Given the description of an element on the screen output the (x, y) to click on. 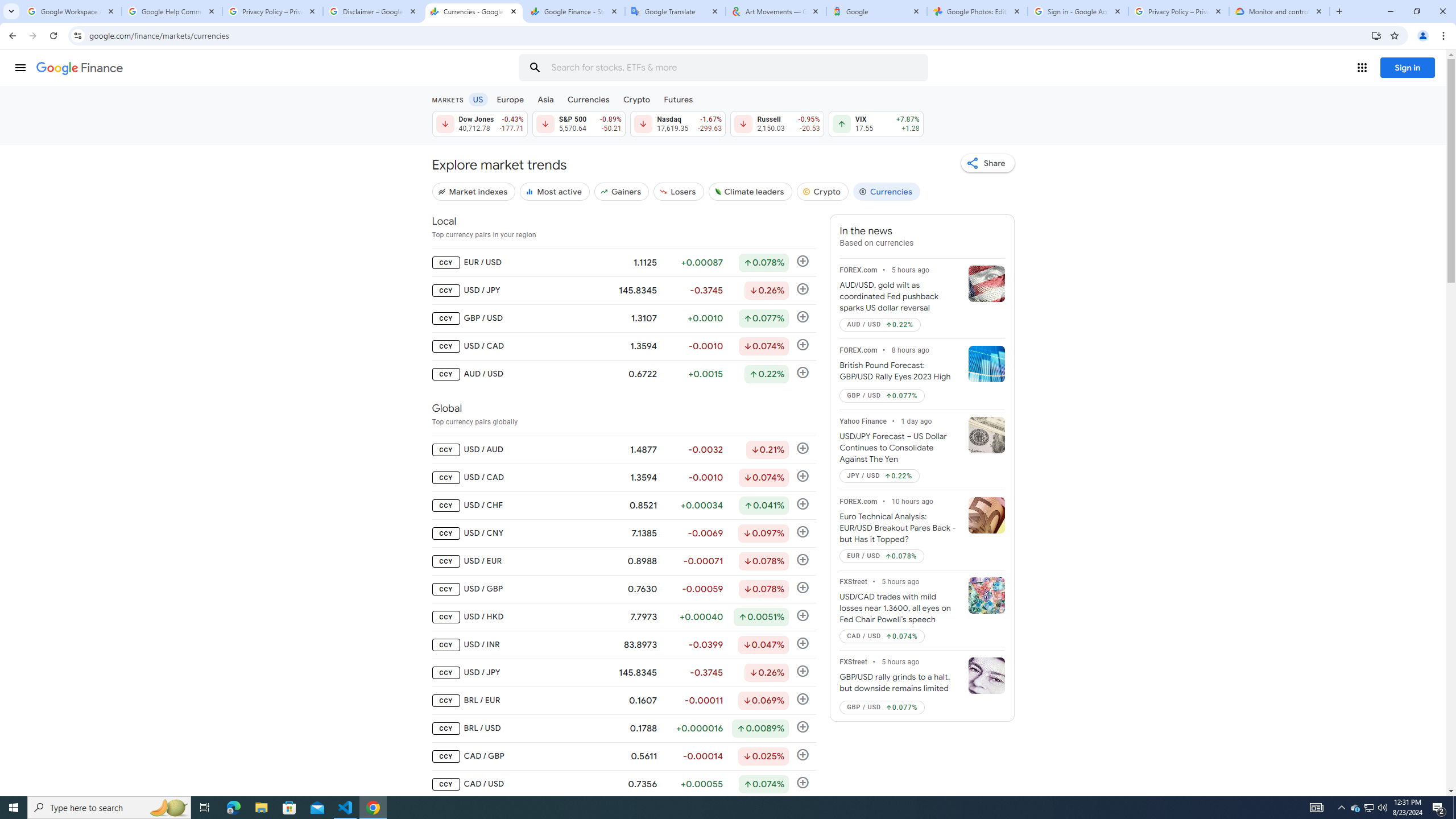
Finance (79, 68)
Nasdaq 17,619.35 Down by 1.67% -299.63 (678, 123)
Share (987, 162)
Currencies - Google Finance (474, 11)
Europe (510, 99)
AUD / USD Up by 0.22% (880, 324)
EUR / USD Up by 0.078% (882, 556)
Dow Jones 40,712.78 Down by 0.43% -177.71 (478, 123)
CCY USD / HKD 7.7973 +0.00040 Up by 0.0051% Follow (623, 616)
CCY USD / CHF 0.8521 +0.00034 Up by 0.041% Follow (623, 505)
